Given the description of an element on the screen output the (x, y) to click on. 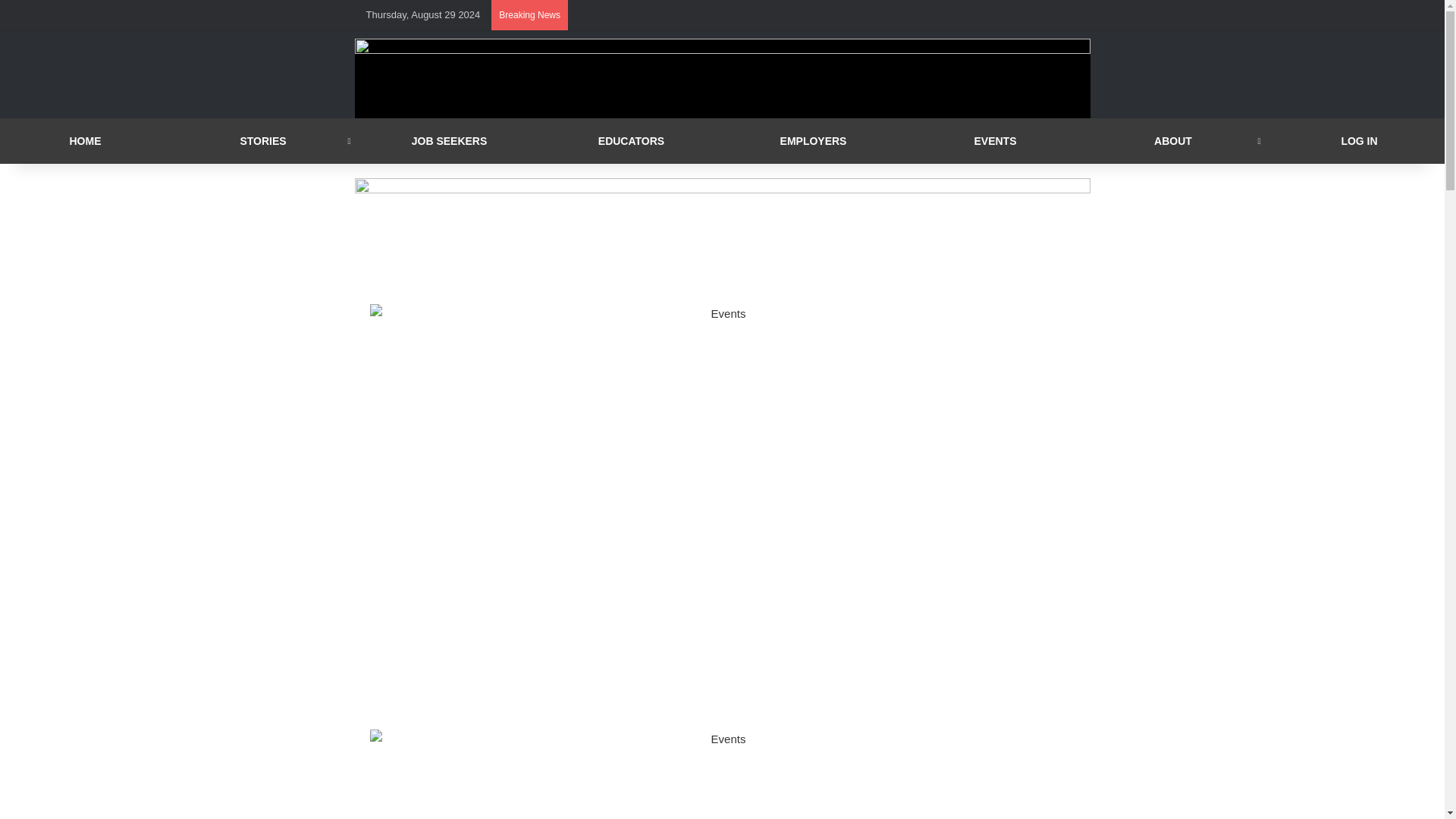
EMPLOYERS (813, 140)
STORIES (267, 140)
JOB SEEKERS (449, 140)
EDUCATORS (631, 140)
ABOUT (1177, 140)
EVENTS (995, 140)
HOME (88, 140)
